Given the description of an element on the screen output the (x, y) to click on. 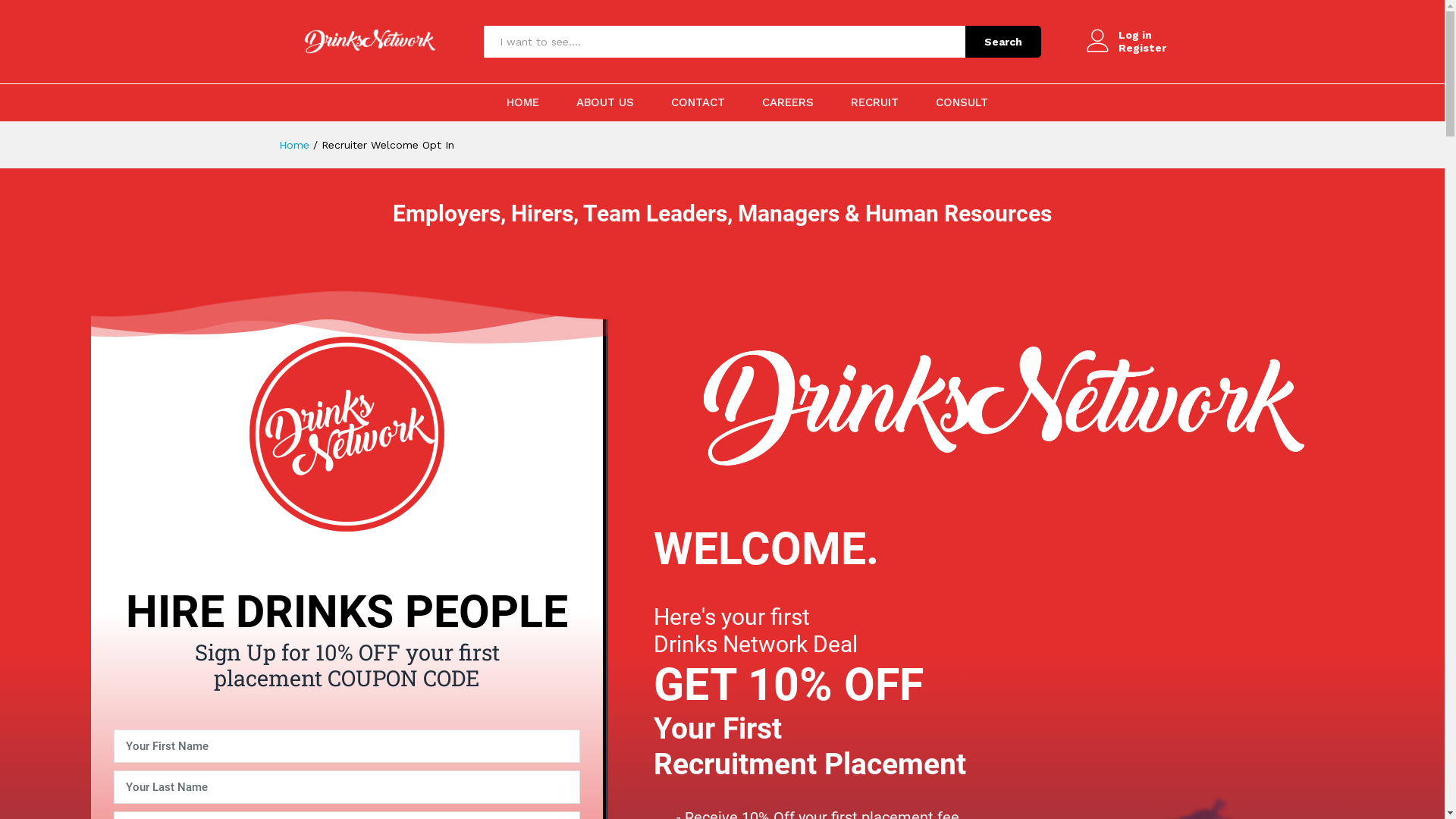
HOME Element type: text (522, 102)
Recruiter Welcome Opt In Element type: text (387, 144)
Log in Element type: text (1125, 34)
Home Element type: text (294, 144)
CAREERS Element type: text (786, 102)
ABOUT US Element type: text (604, 102)
CONSULT Element type: text (961, 102)
CONTACT Element type: text (697, 102)
Register Element type: text (1125, 47)
Search Element type: text (1002, 41)
RECRUIT Element type: text (874, 102)
